Given the description of an element on the screen output the (x, y) to click on. 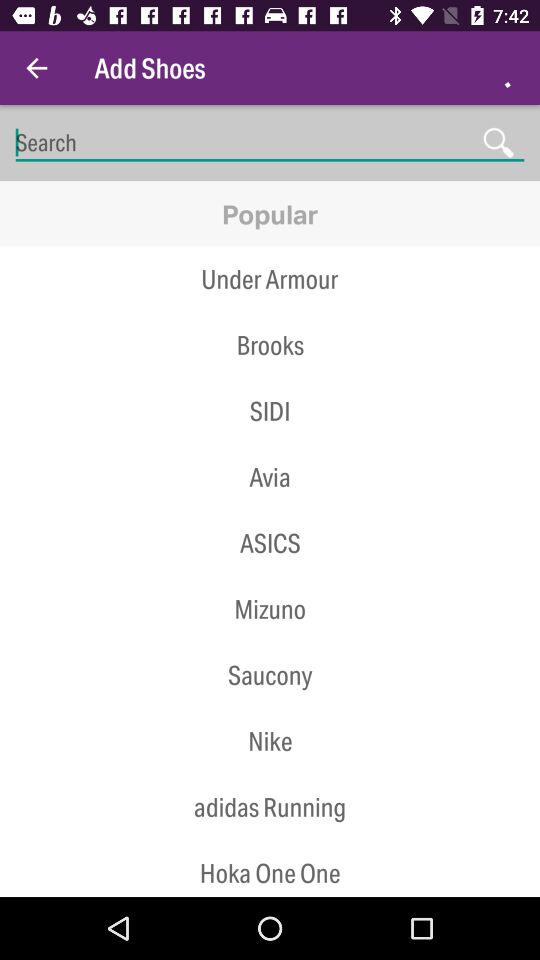
select the brooks item (270, 345)
